Given the description of an element on the screen output the (x, y) to click on. 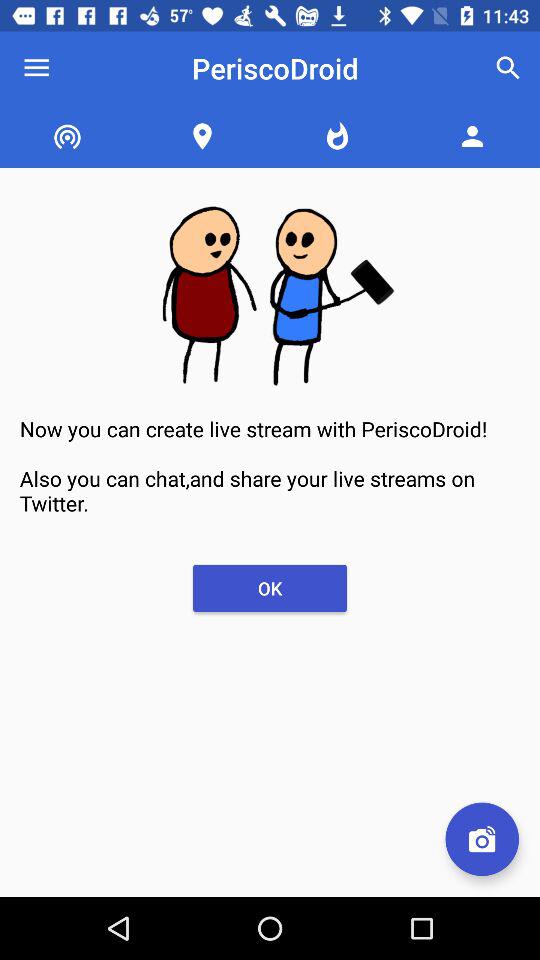
jump to the ok (269, 587)
